Given the description of an element on the screen output the (x, y) to click on. 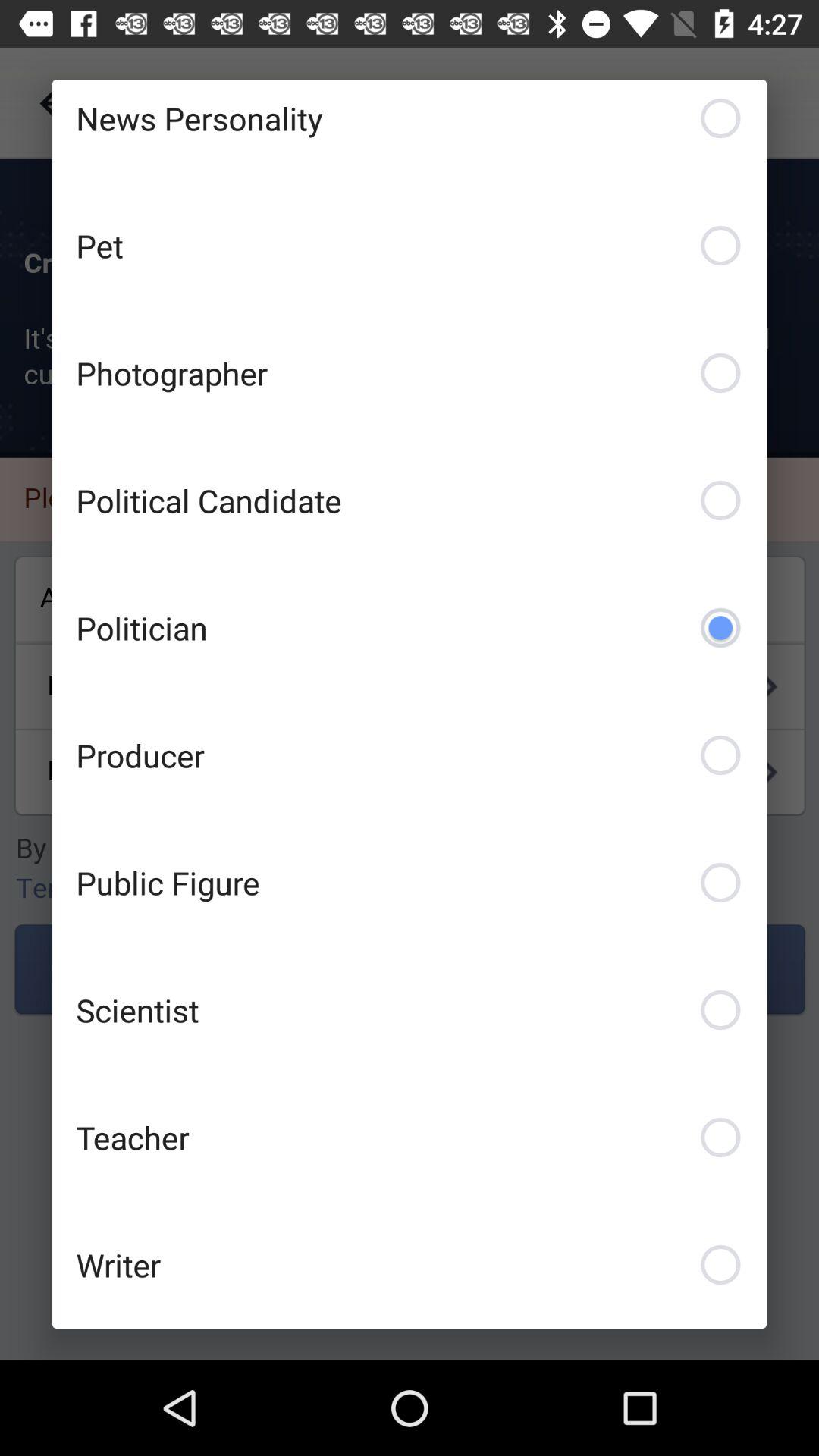
open the teacher item (409, 1137)
